Given the description of an element on the screen output the (x, y) to click on. 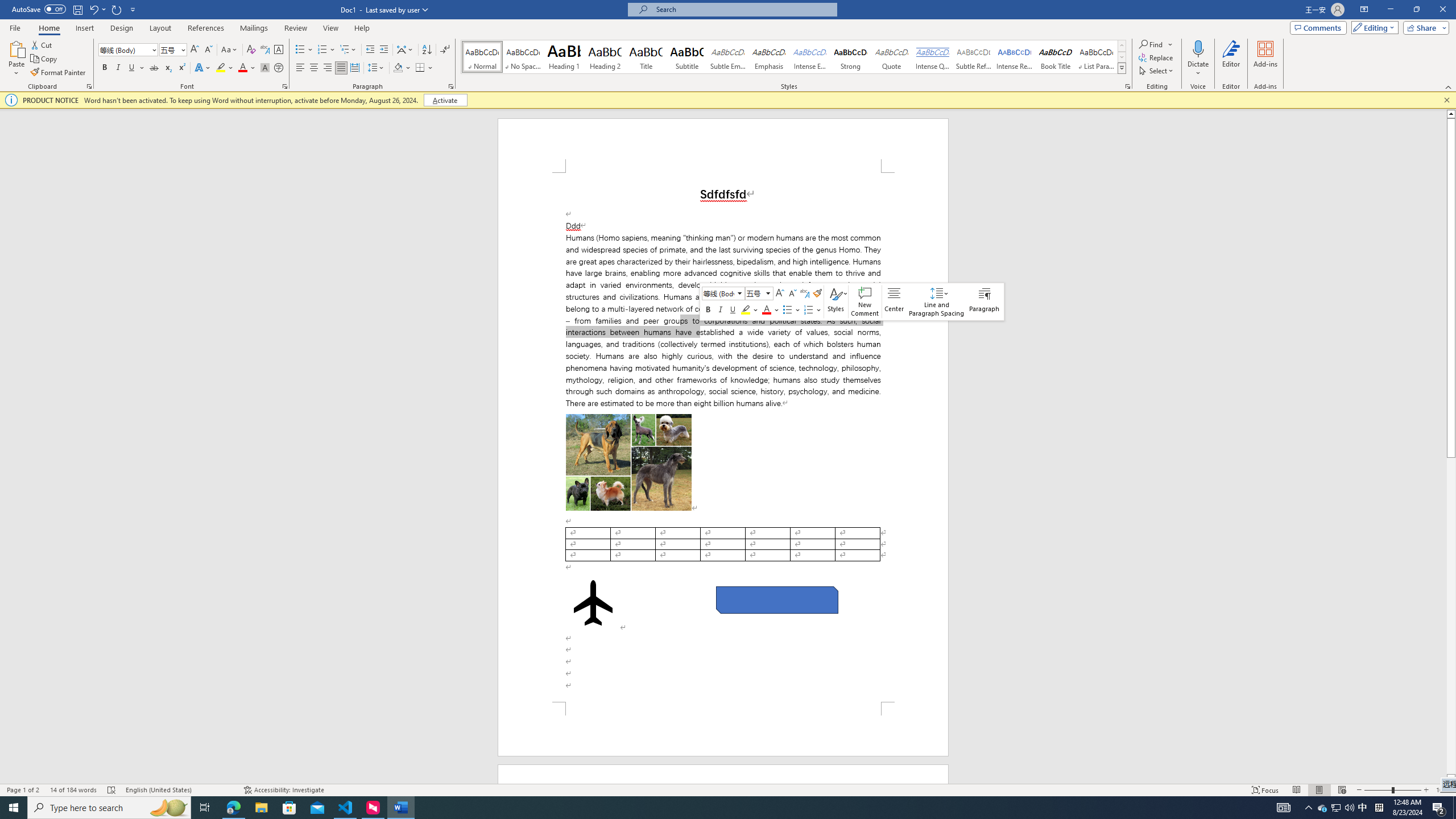
Heading 2 (605, 56)
Zoom 100% (1443, 790)
